Given the description of an element on the screen output the (x, y) to click on. 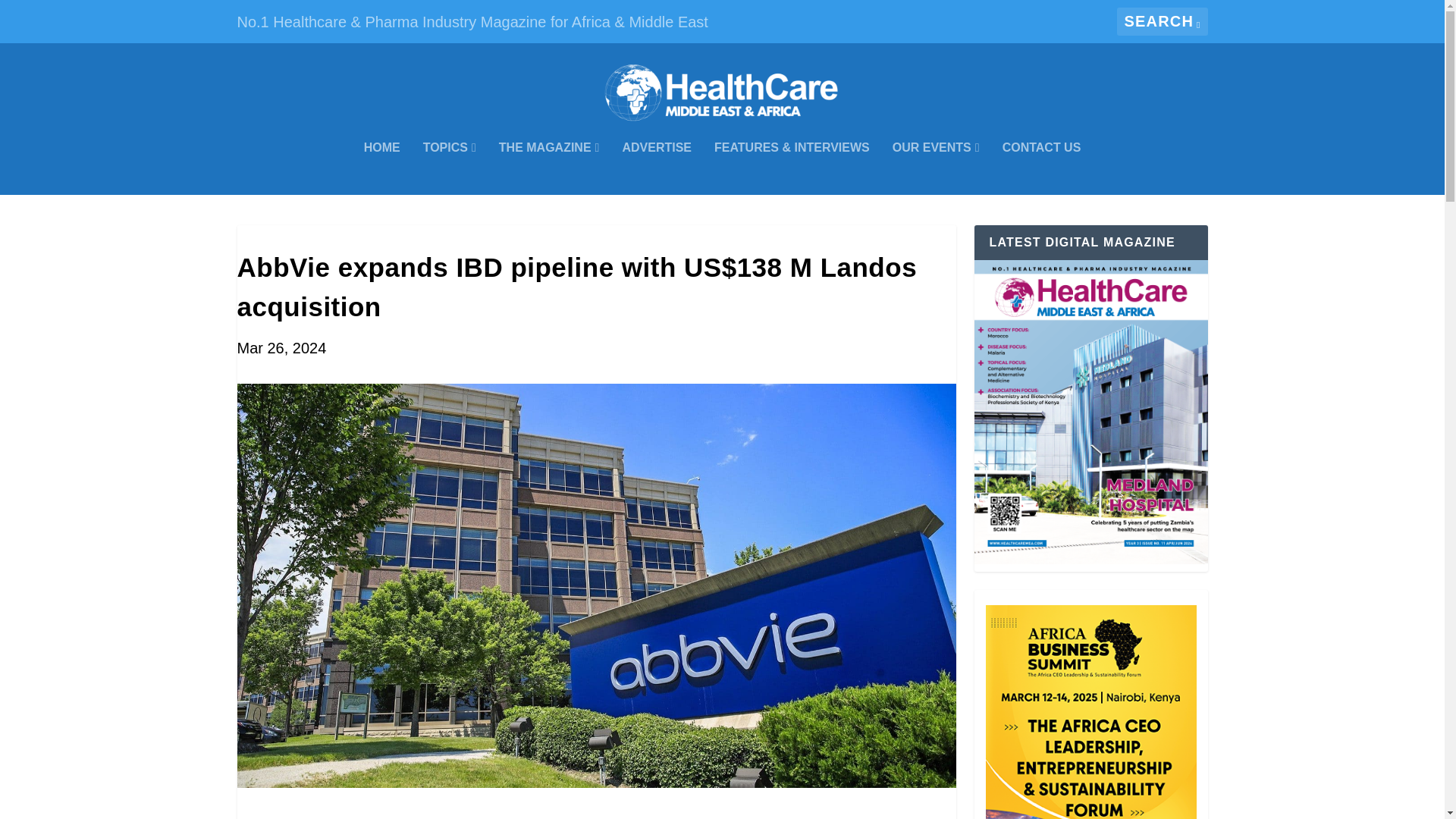
TOPICS (449, 167)
Search for: (1161, 21)
CONTACT US (1042, 167)
OUR EVENTS (935, 167)
ADVERTISE (656, 167)
OUR EVENTS (935, 167)
THE MAGAZINE (549, 167)
